Given the description of an element on the screen output the (x, y) to click on. 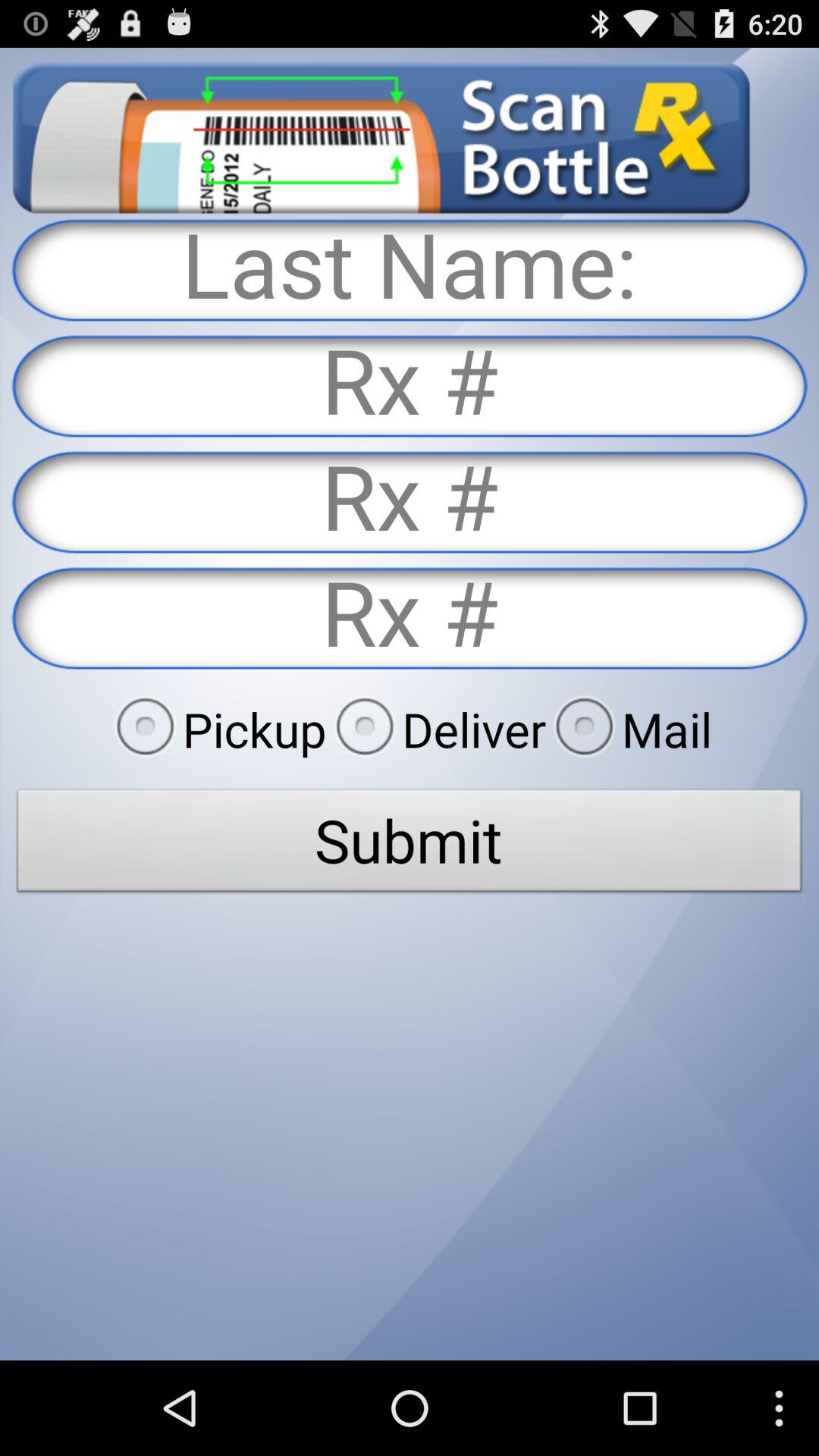
click the item above submit button (629, 728)
